Given the description of an element on the screen output the (x, y) to click on. 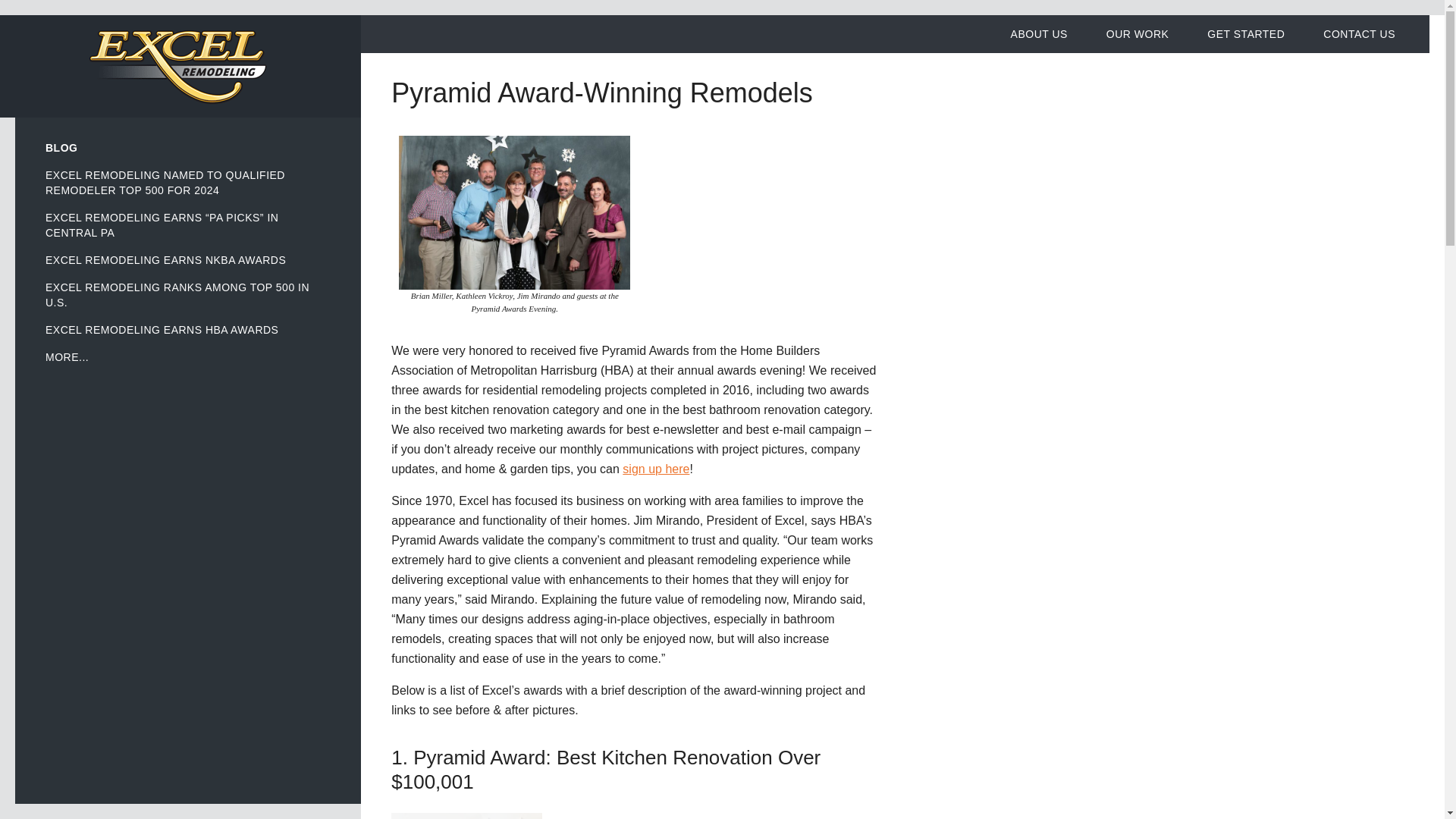
sign up here (655, 468)
EXCEL REMODELING RANKS AMONG TOP 500 IN U.S. (187, 294)
Skip to content (40, 25)
OUR WORK (1137, 34)
Pyramid winning kitchen (466, 816)
Excel team at Pyramid Awards (514, 212)
ABOUT US (1038, 34)
EXCEL REMODELING EARNS HBA AWARDS (187, 329)
Skip to content (40, 25)
GET STARTED (1245, 34)
